Given the description of an element on the screen output the (x, y) to click on. 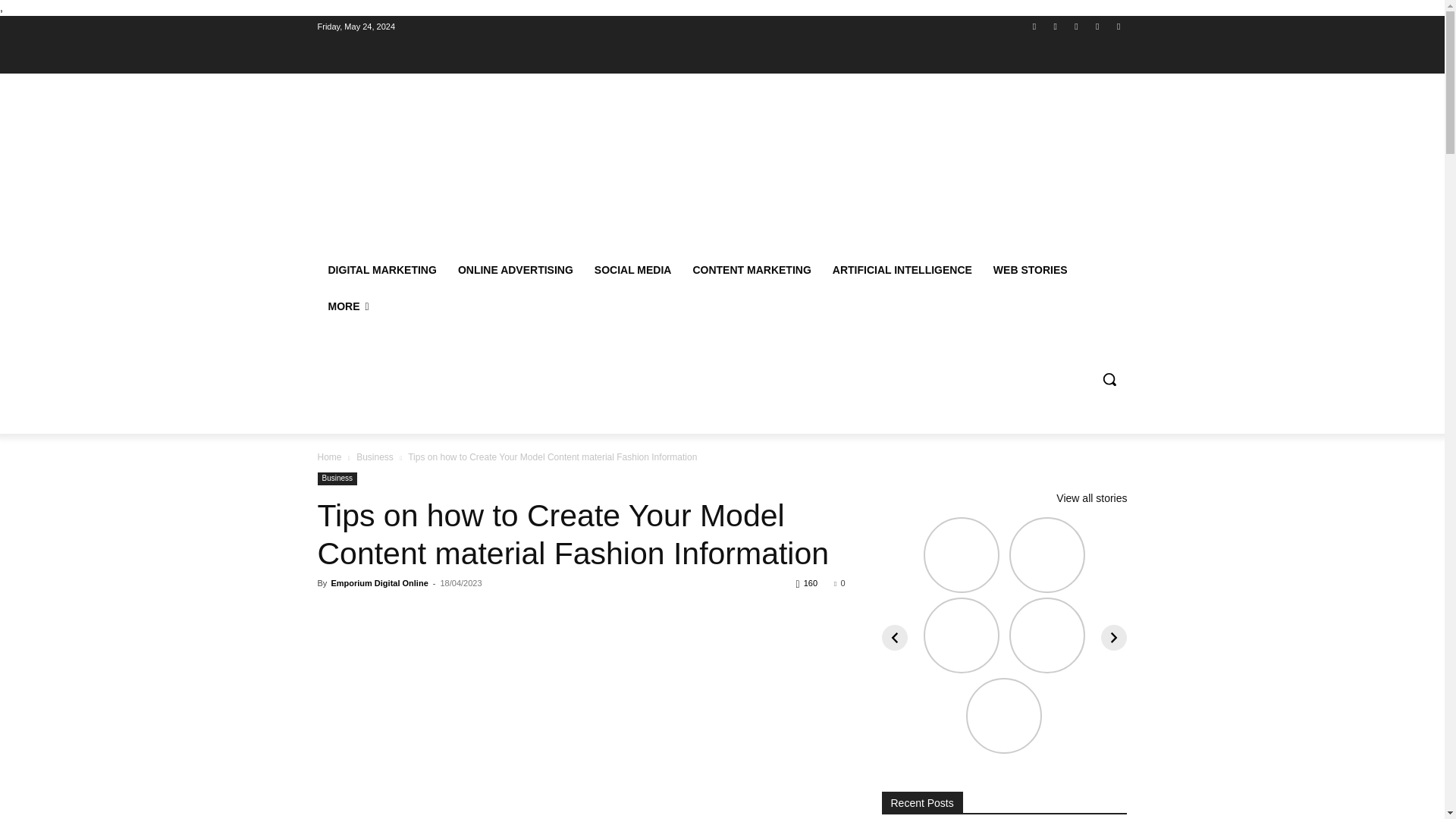
WEB STORIES (1030, 269)
Facebook (1034, 27)
ONLINE ADVERTISING (514, 269)
SOCIAL MEDIA (632, 269)
TikTok (1075, 27)
DIGITAL MARKETING (381, 269)
ARTIFICIAL INTELLIGENCE (902, 269)
Instagram (1055, 27)
Twitter (1097, 27)
CONTENT MARKETING (751, 269)
Youtube (1117, 27)
MORE (347, 306)
